Given the description of an element on the screen output the (x, y) to click on. 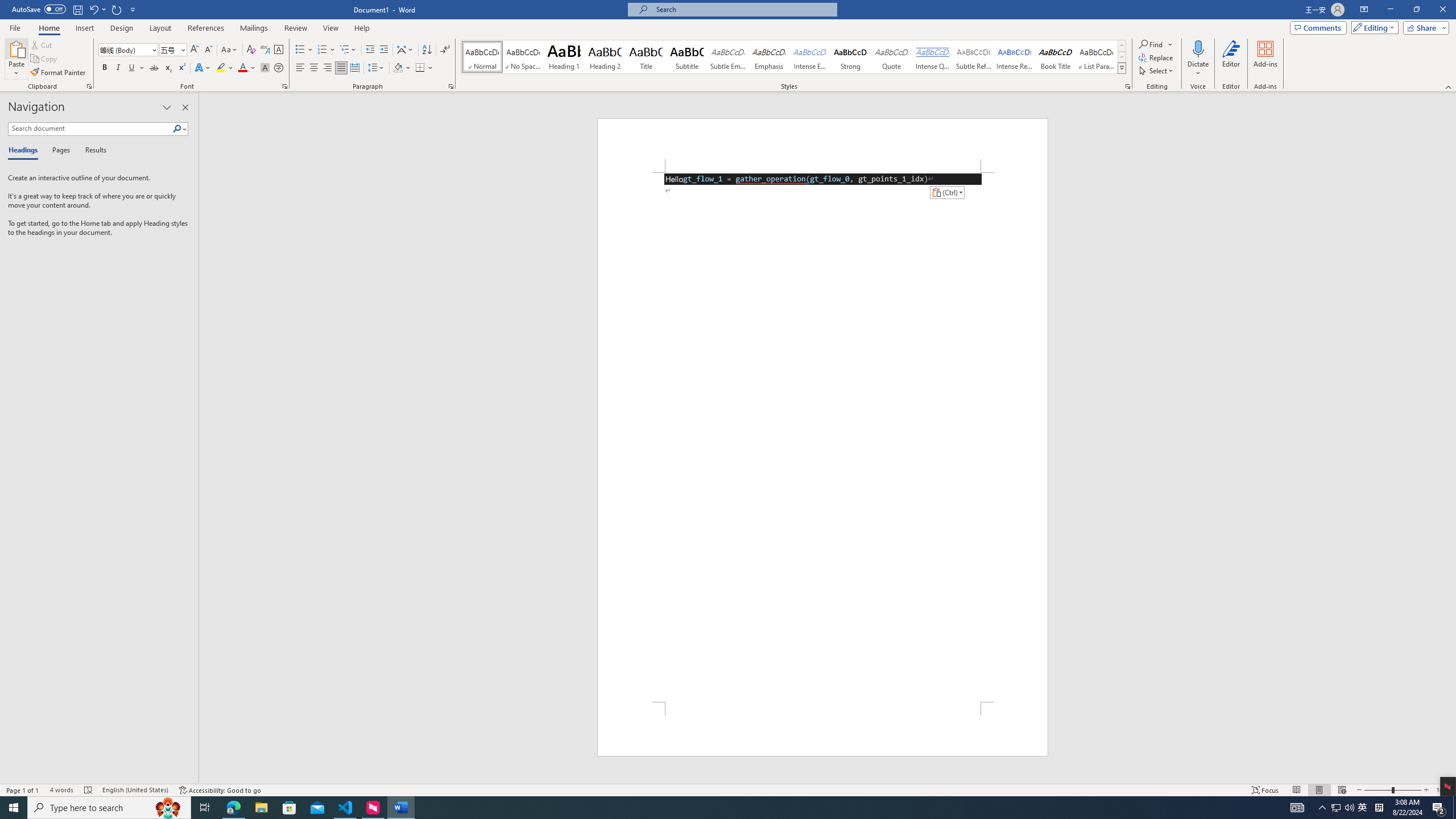
Subtle Reference (973, 56)
Font Color Red (241, 67)
Repeat Paste (117, 9)
